Given the description of an element on the screen output the (x, y) to click on. 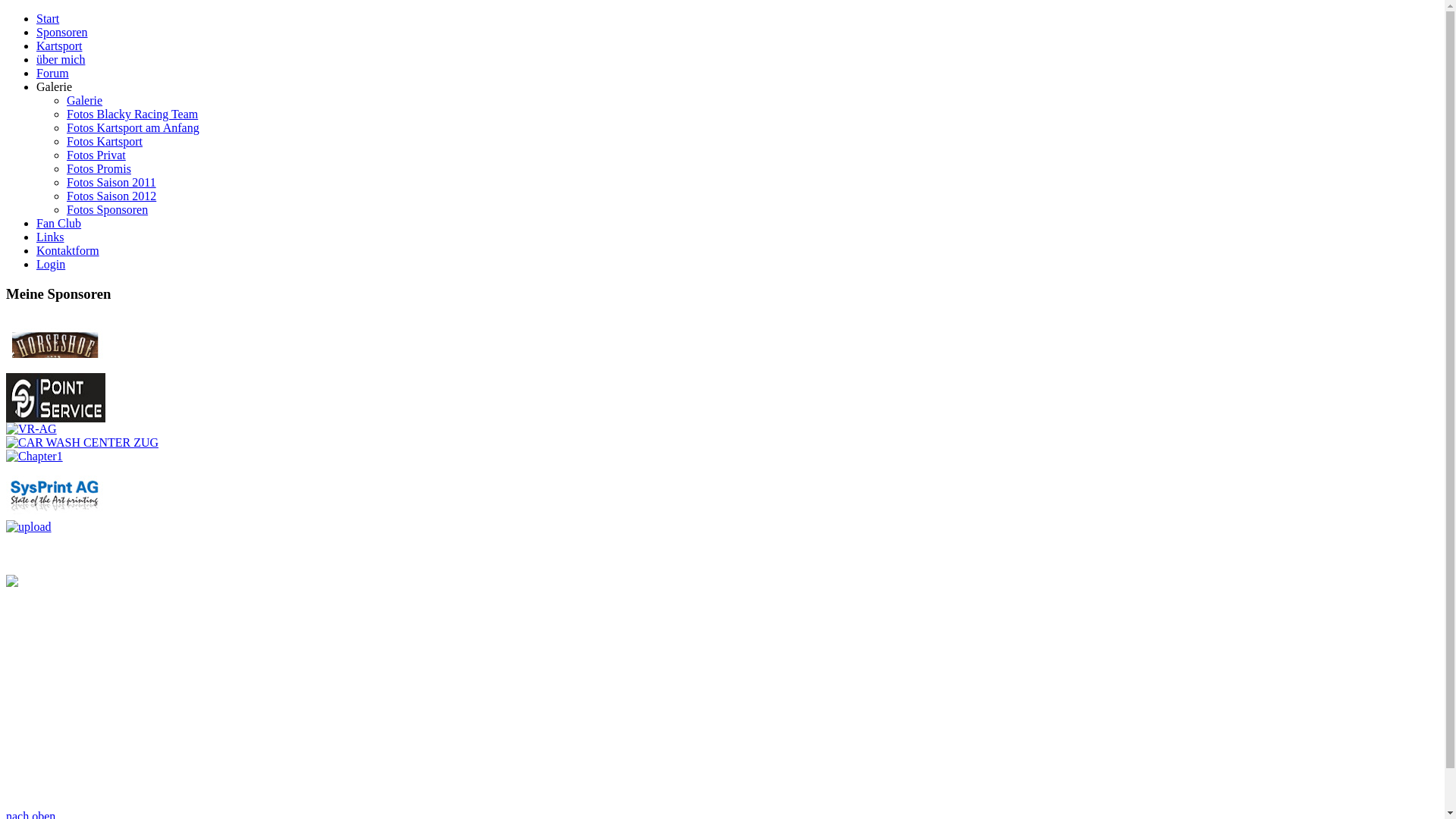
Forum Element type: text (52, 72)
Fotos Kartsport Element type: text (104, 140)
CAR WASH CENTER ZUG Element type: hover (82, 442)
Links Element type: text (49, 236)
Fotos Kartsport am Anfang Element type: text (132, 127)
Fotos Sponsoren Element type: text (106, 209)
Fan Club Element type: text (58, 222)
Kontaktform Element type: text (67, 250)
Horseshoe Element type: hover (55, 368)
Galerie Element type: text (54, 86)
Login Element type: text (50, 263)
Chapter1 Element type: hover (34, 455)
Galerie Element type: text (84, 100)
Sysprint Element type: hover (55, 515)
Upload Element type: hover (28, 526)
Fotos Saison 2012 Element type: text (111, 195)
Fotos Promis Element type: text (98, 168)
VR-AG Element type: hover (31, 428)
Kartsport Element type: text (58, 45)
Point Service Element type: hover (55, 417)
Fotos Saison 2011 Element type: text (111, 181)
Start Element type: text (47, 18)
Fotos Privat Element type: text (95, 154)
Fotos Blacky Racing Team Element type: text (131, 113)
Sponsoren Element type: text (61, 31)
